Given the description of an element on the screen output the (x, y) to click on. 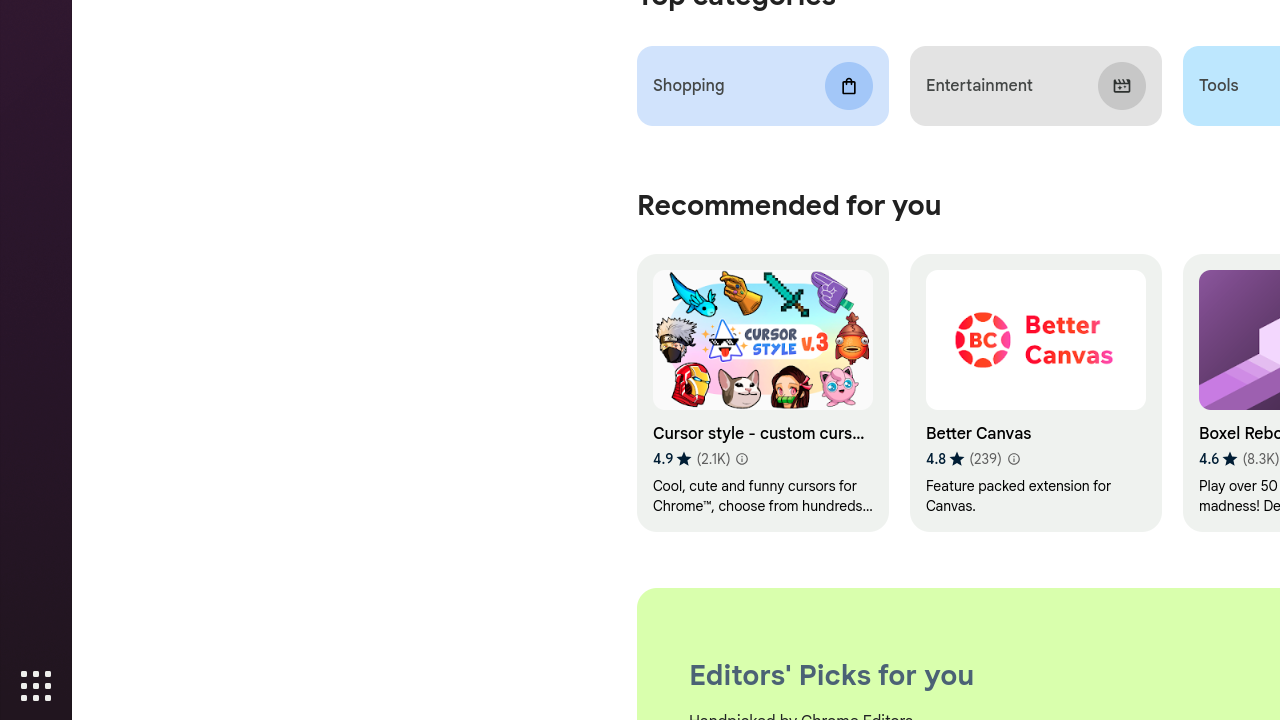
Shopping Element type: link (762, 86)
Entertainment Element type: link (1035, 86)
Better Canvas Element type: link (1035, 393)
Learn more about results and reviews "Cursor style - custom cursor for your browser" Element type: push-button (741, 459)
Cursor style - custom cursor for your browser Element type: link (762, 393)
